Given the description of an element on the screen output the (x, y) to click on. 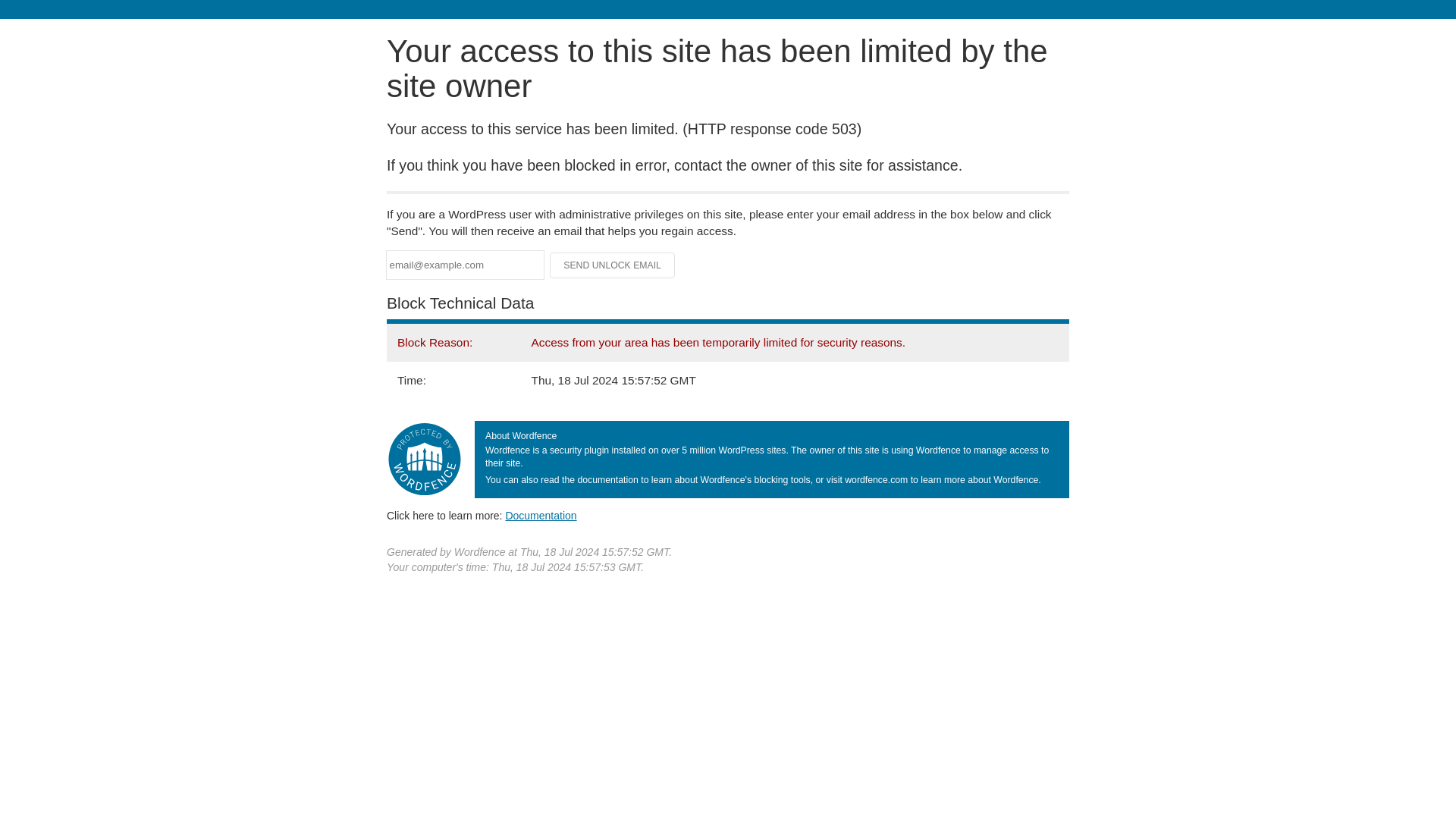
Send Unlock Email (612, 265)
Documentation (540, 515)
Send Unlock Email (612, 265)
